Given the description of an element on the screen output the (x, y) to click on. 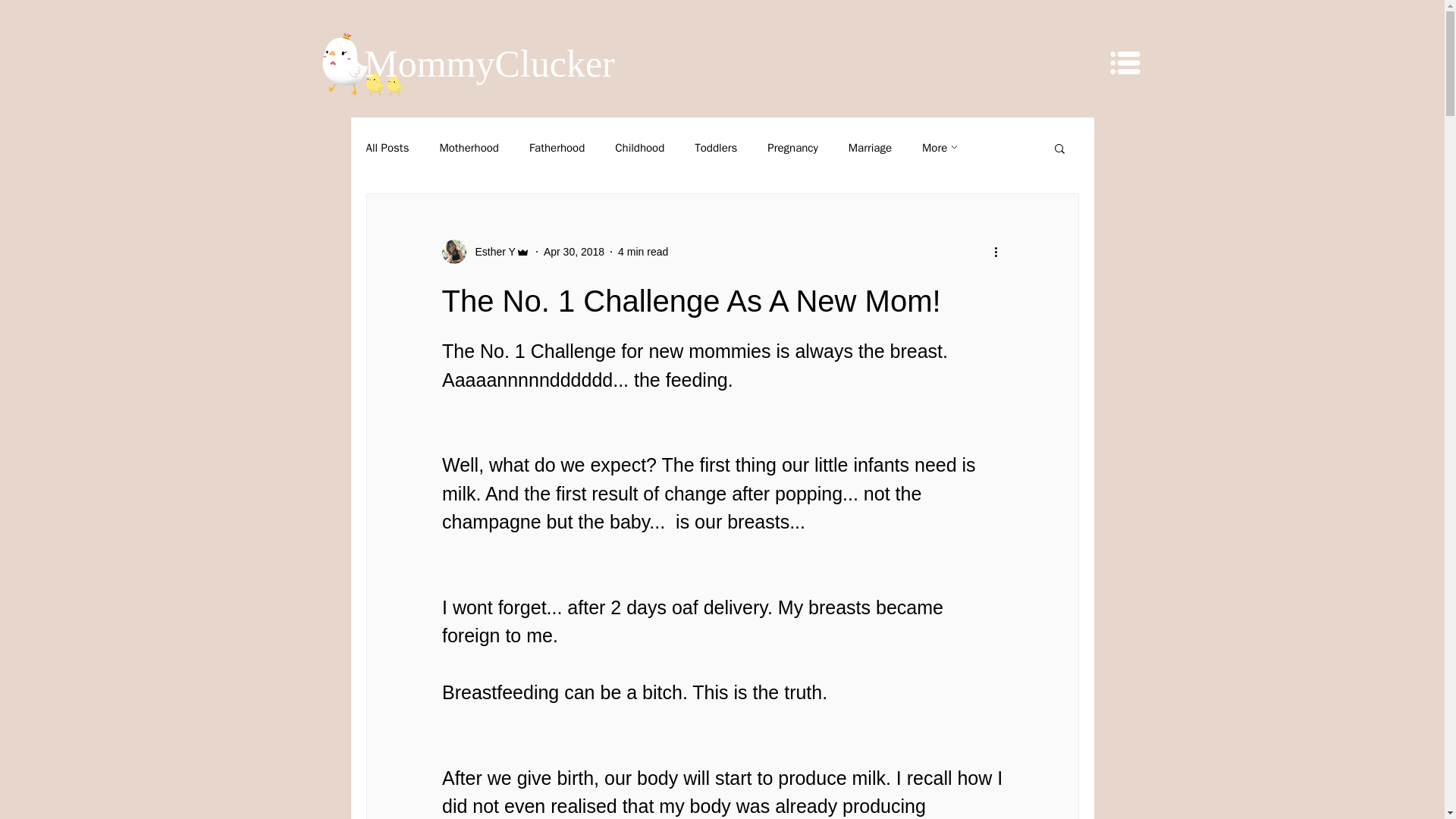
All Posts (387, 147)
Childhood (638, 147)
Esther Y (490, 252)
4 min read (642, 251)
Apr 30, 2018 (573, 251)
MommyClucker (489, 63)
Motherhood (468, 147)
Marriage (869, 147)
Pregnancy (792, 147)
Toddlers (715, 147)
